Given the description of an element on the screen output the (x, y) to click on. 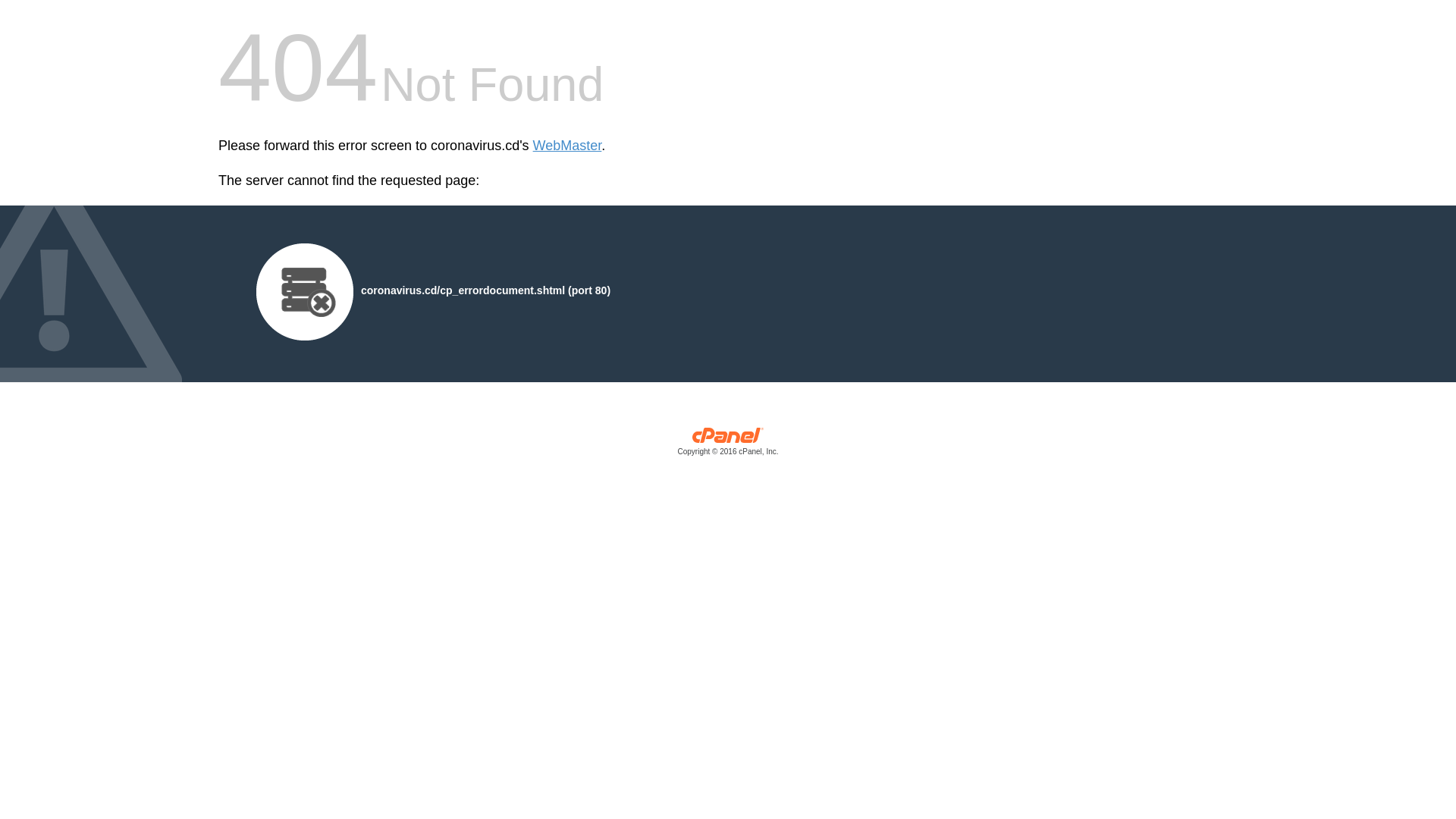
WebMaster Element type: text (567, 145)
